Given the description of an element on the screen output the (x, y) to click on. 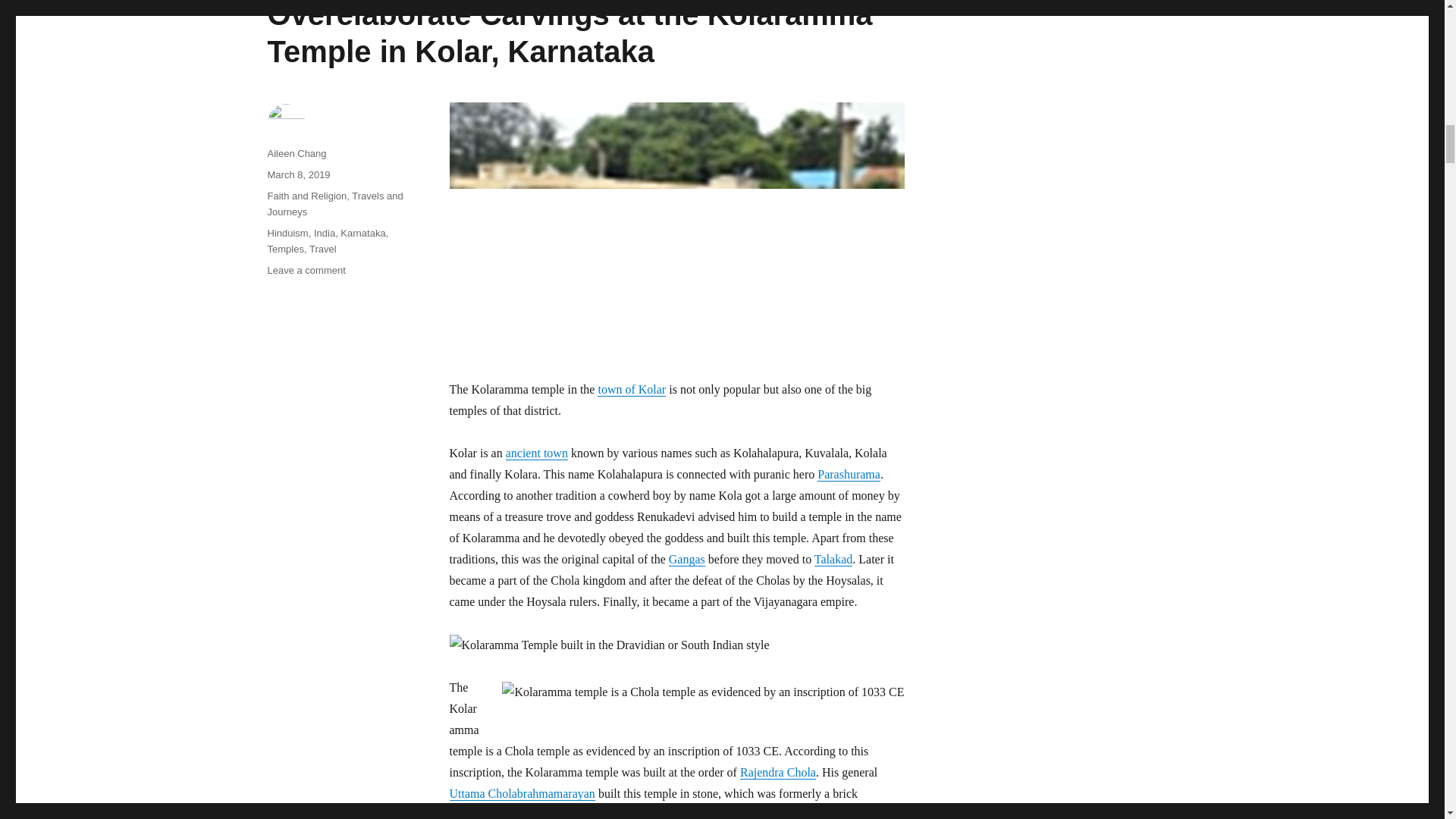
Uttama Cholabrahmamarayan (521, 793)
Rajendra Chola (777, 771)
town of Kolar (630, 389)
Gangas (686, 558)
ancient town (536, 452)
Parashurama (848, 473)
Talakad (832, 558)
